Given the description of an element on the screen output the (x, y) to click on. 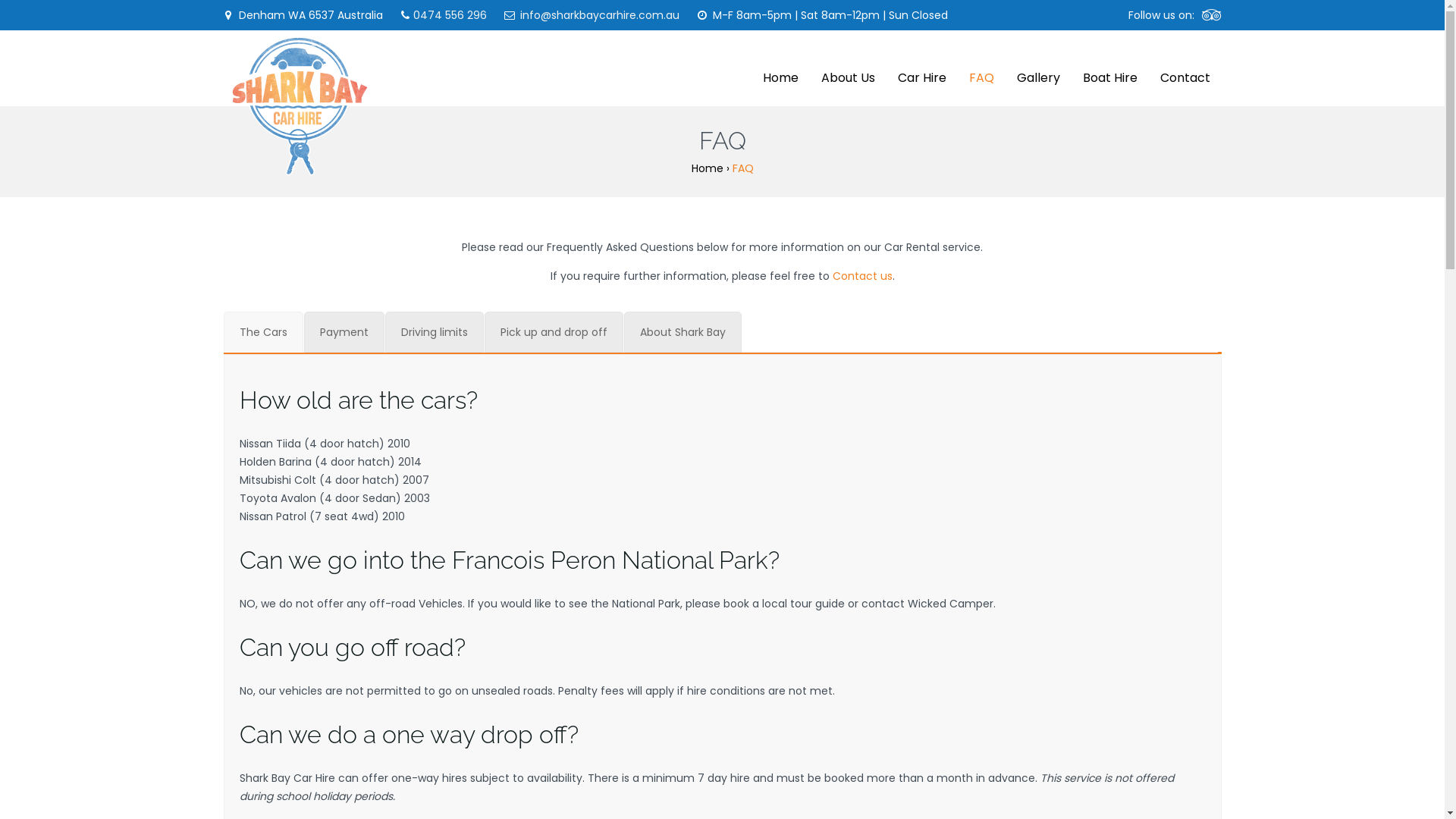
Boat Hire Element type: text (1109, 68)
Tripadvisor Element type: hover (1210, 14)
Contact Element type: text (1184, 68)
Shark Bay Car Hire Element type: hover (298, 106)
Car Hire Element type: text (921, 68)
About Us Element type: text (847, 68)
Gallery Element type: text (1038, 68)
Pick up and drop off Element type: text (552, 331)
FAQ Element type: text (980, 68)
Home Element type: text (779, 68)
About Shark Bay Element type: text (681, 331)
The Cars Element type: text (262, 331)
info@sharkbaycarhire.com.au Element type: text (599, 14)
Payment Element type: text (343, 331)
Home Element type: text (707, 167)
0474 556 296 Element type: text (449, 14)
Contact us Element type: text (862, 275)
Driving limits Element type: text (434, 331)
